Given the description of an element on the screen output the (x, y) to click on. 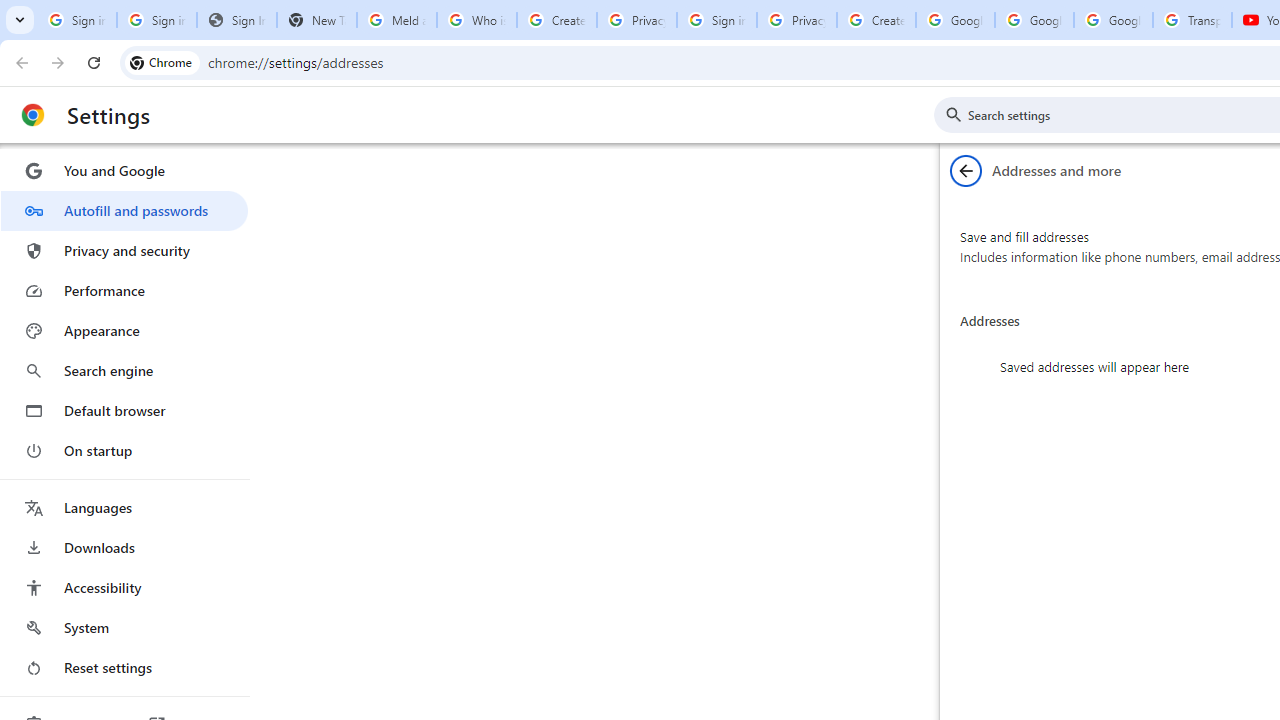
Sign in - Google Accounts (156, 20)
On startup (124, 450)
Autofill and passwords (124, 210)
Reset settings (124, 668)
Create your Google Account (556, 20)
Sign in - Google Accounts (76, 20)
Search engine (124, 370)
Downloads (124, 547)
Performance (124, 290)
New Tab (316, 20)
